Given the description of an element on the screen output the (x, y) to click on. 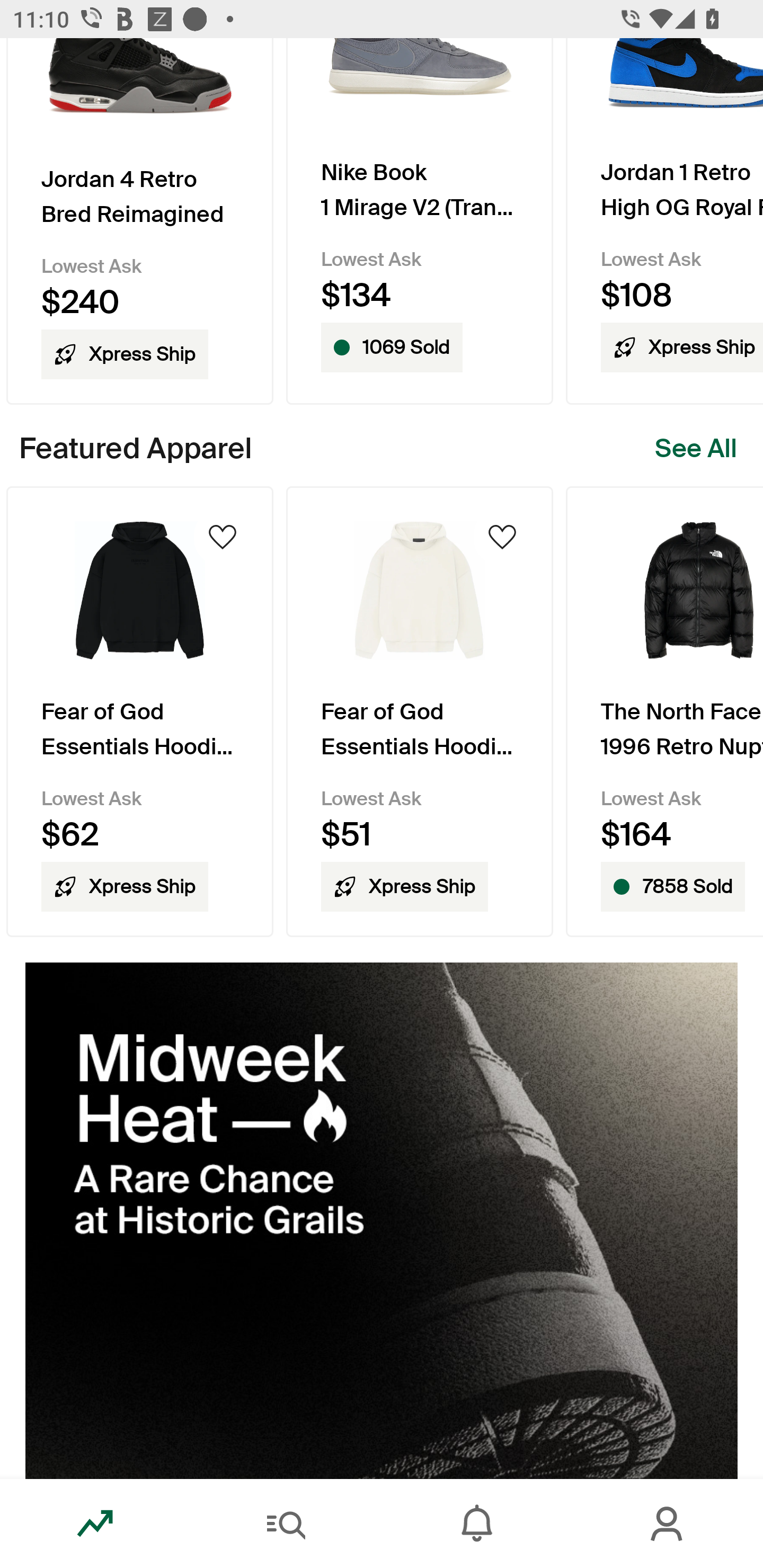
See All (695, 448)
SecondaryB.jpg (381, 1220)
Search (285, 1523)
Inbox (476, 1523)
Account (667, 1523)
